Given the description of an element on the screen output the (x, y) to click on. 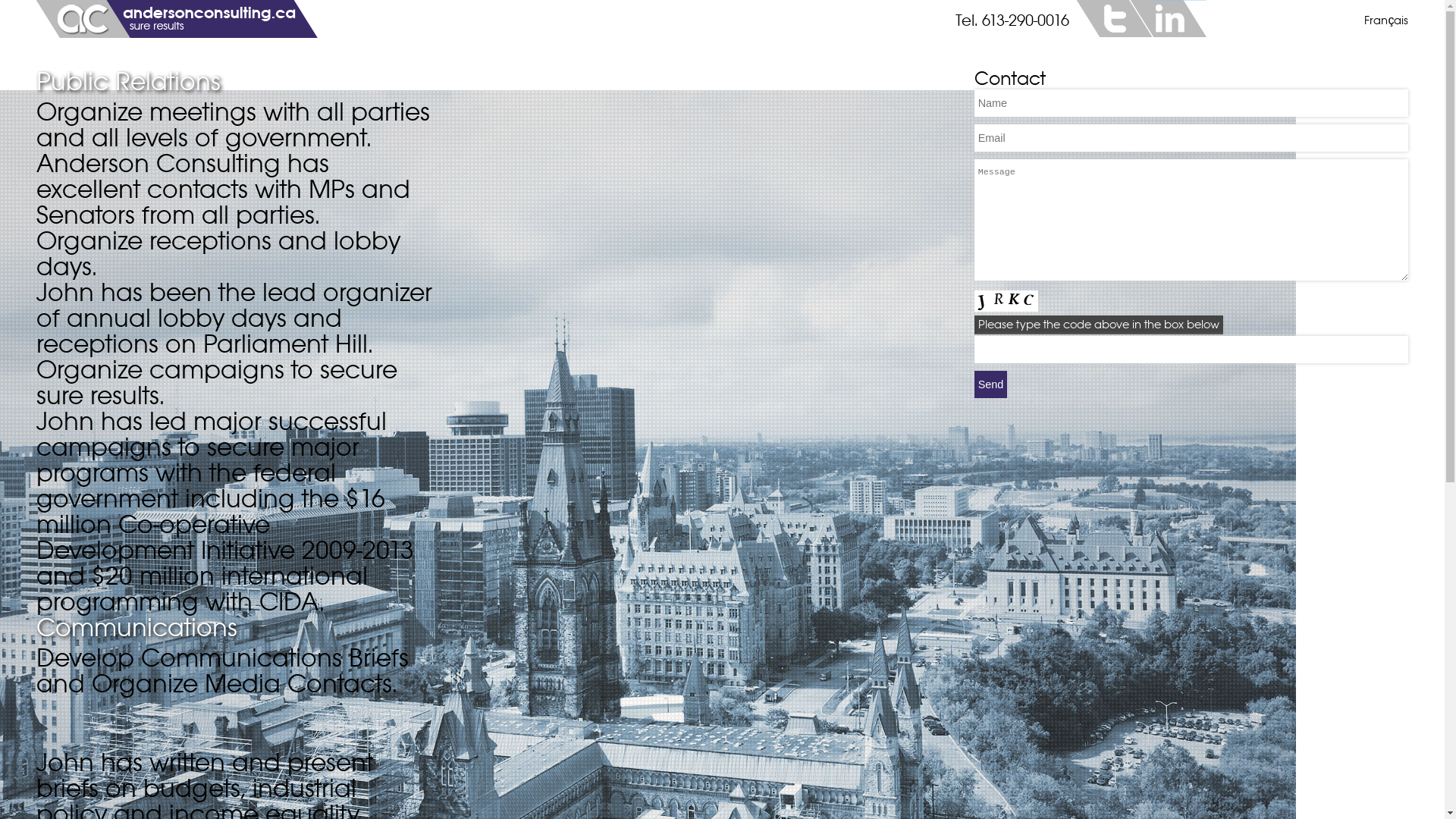
Public Relations Element type: text (234, 85)
Tel. 613-290-0016 Element type: text (1012, 21)
  Element type: text (1168, 18)
  Element type: text (1113, 18)
Communications Element type: text (234, 631)
Send Element type: text (990, 384)
